Given the description of an element on the screen output the (x, y) to click on. 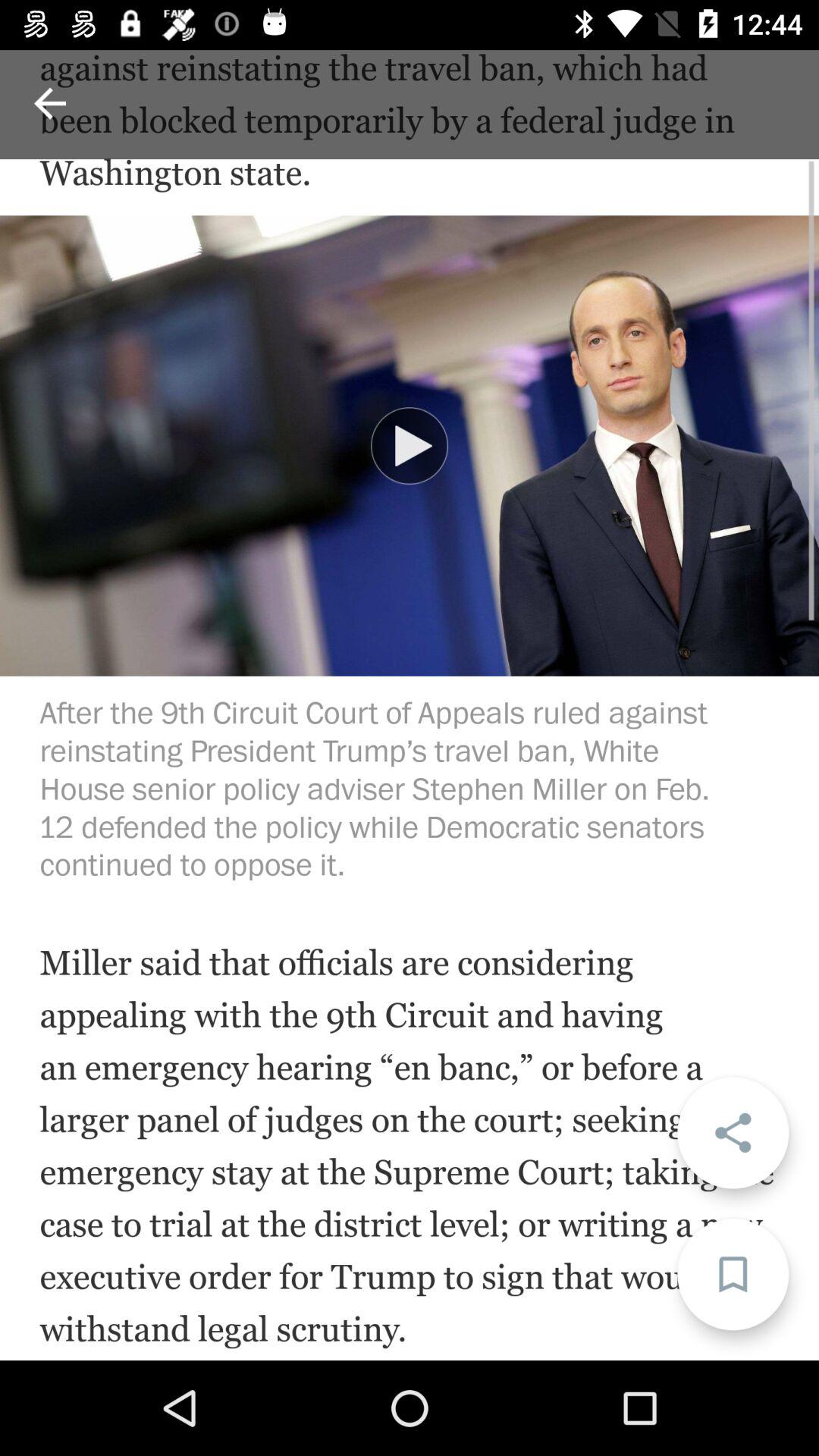
play (409, 445)
